Given the description of an element on the screen output the (x, y) to click on. 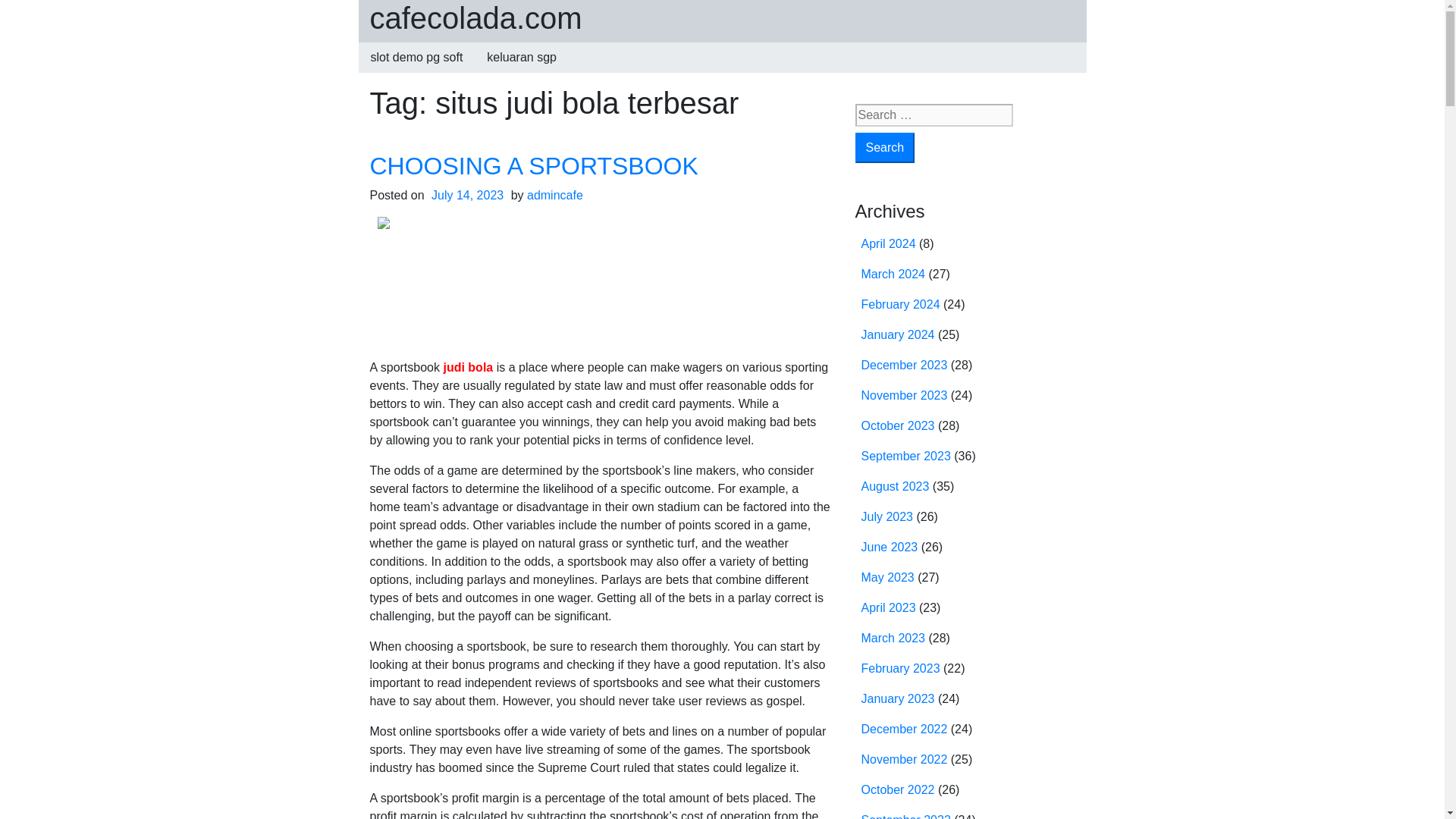
admincafe (555, 195)
July 14, 2023 (467, 195)
CHOOSING A SPORTSBOOK (533, 165)
slot demo pg soft (416, 57)
judi bola (467, 367)
Search (885, 147)
cafecolada.com (475, 18)
Search (885, 147)
keluaran sgp (521, 57)
